Given the description of an element on the screen output the (x, y) to click on. 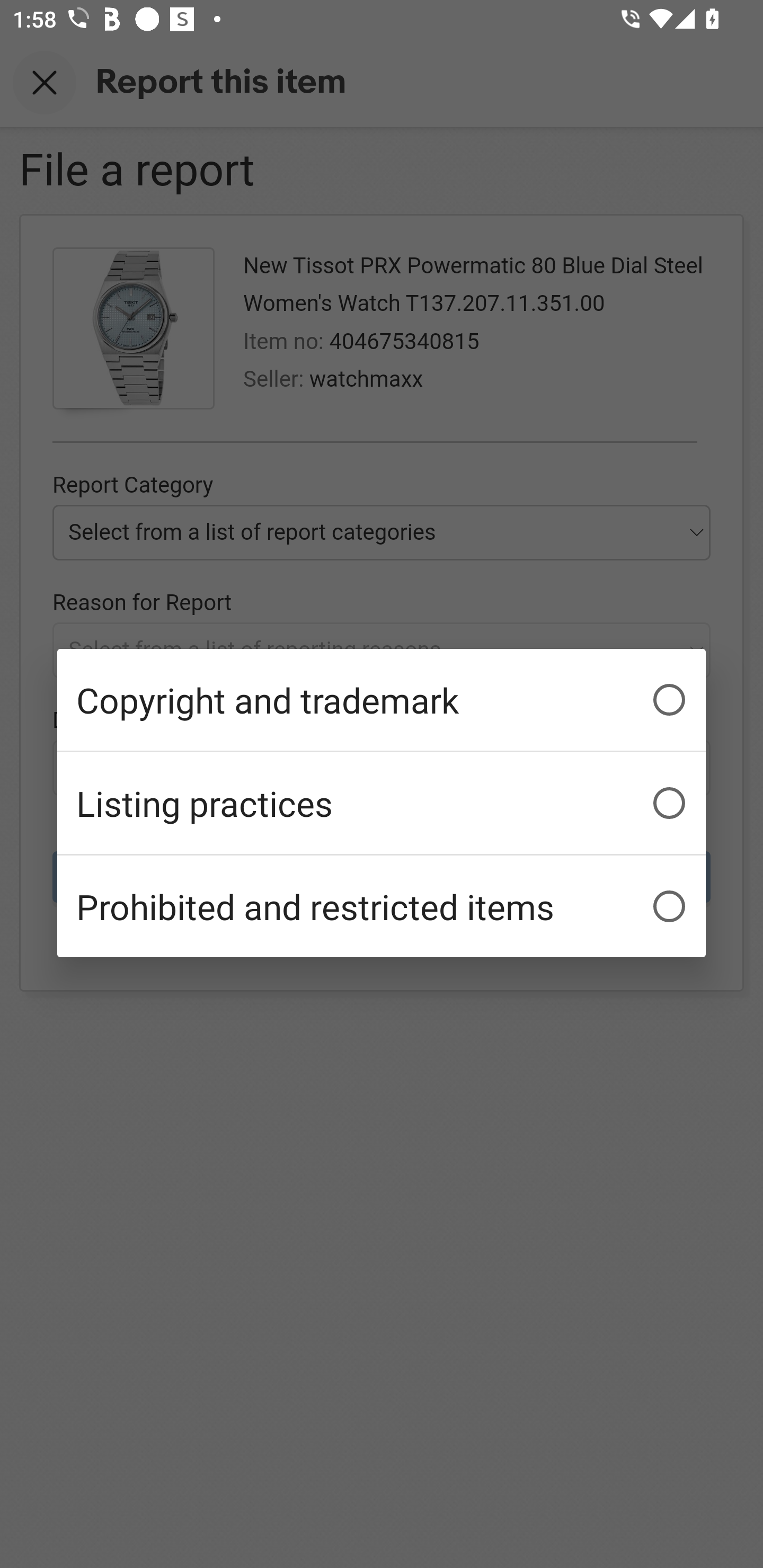
Copyright and trademark (381, 700)
Listing practices (381, 803)
Prohibited and restricted items (381, 906)
